Given the description of an element on the screen output the (x, y) to click on. 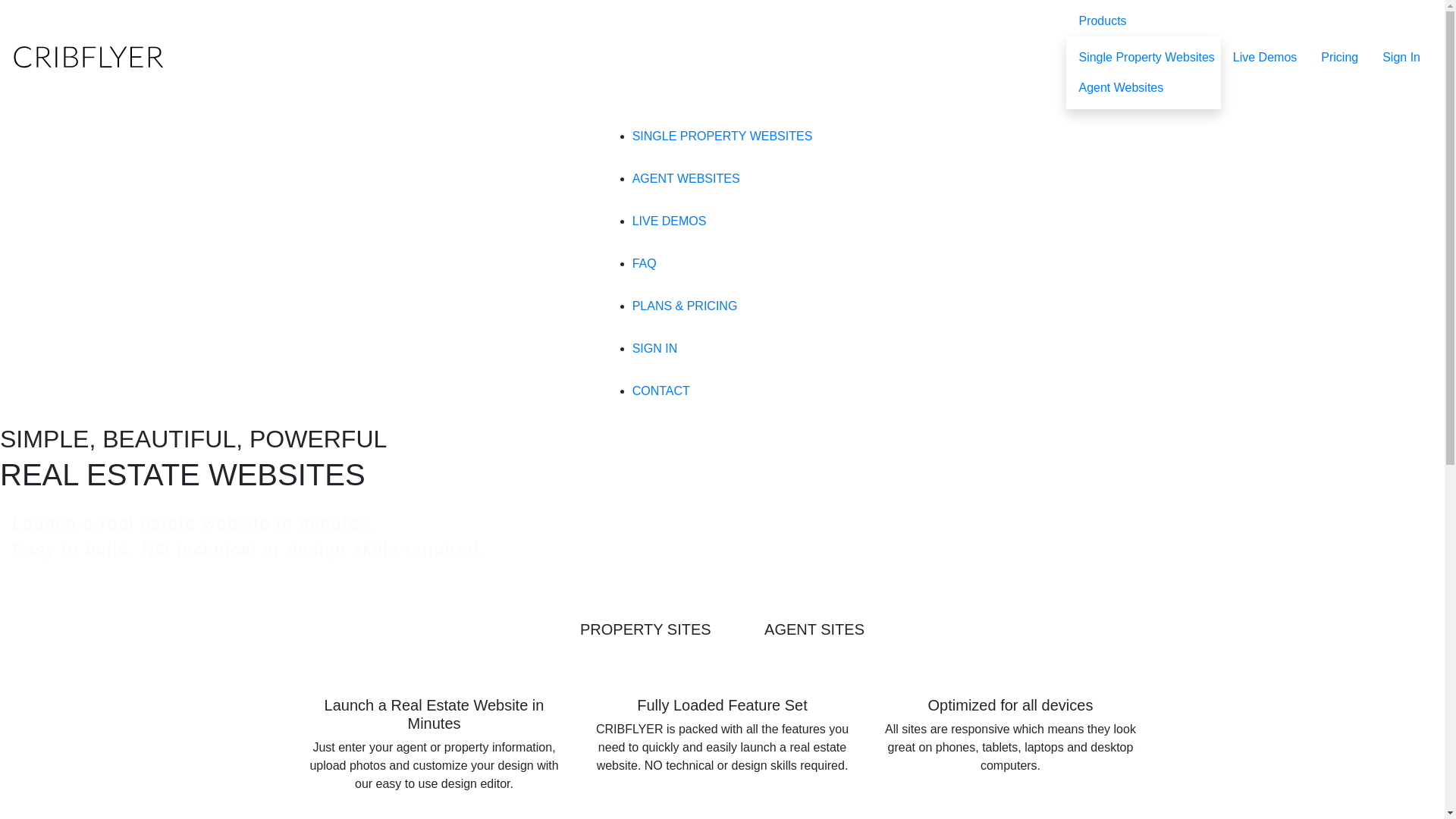
Live Demos Element type: text (1264, 57)
FAQ Element type: text (644, 263)
PLANS & PRICING Element type: text (684, 305)
Sign In Element type: text (1401, 57)
SIGN IN Element type: text (654, 348)
Products Element type: text (1143, 21)
PROPERTY SITES Element type: text (645, 629)
LIVE DEMOS Element type: text (669, 220)
SINGLE PROPERTY WEBSITES Element type: text (722, 135)
Agent Websites Element type: text (1120, 87)
CONTACT Element type: text (661, 390)
Pricing Element type: text (1339, 57)
Single Property Websites Element type: text (1146, 56)
AGENT WEBSITES Element type: text (686, 178)
AGENT SITES Element type: text (814, 629)
